Given the description of an element on the screen output the (x, y) to click on. 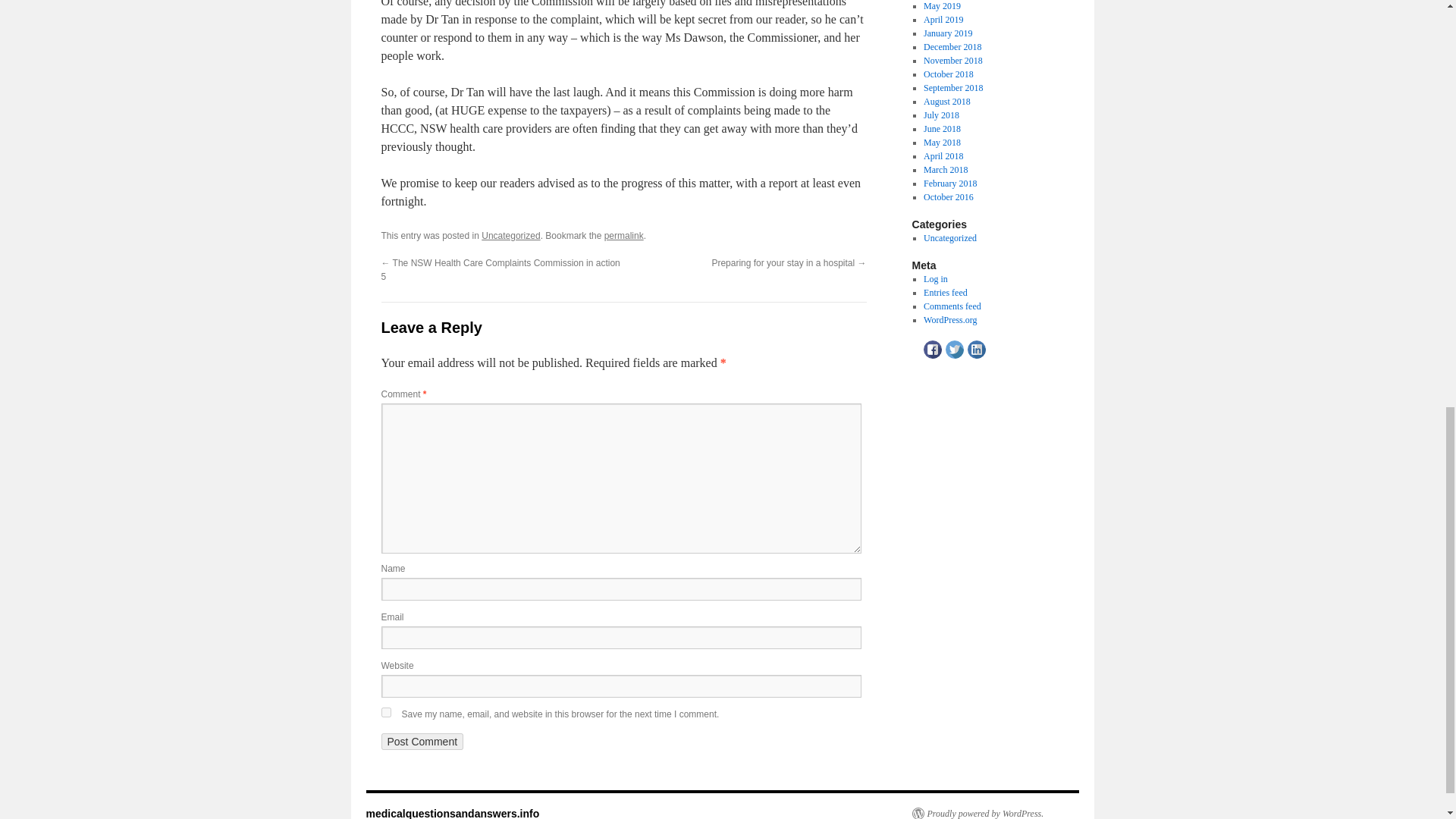
permalink (623, 235)
linkedin (976, 349)
twitter (953, 349)
facebook (932, 349)
yes (385, 712)
May 2019 (941, 5)
Uncategorized (510, 235)
Post Comment (421, 741)
Post Comment (421, 741)
